Given the description of an element on the screen output the (x, y) to click on. 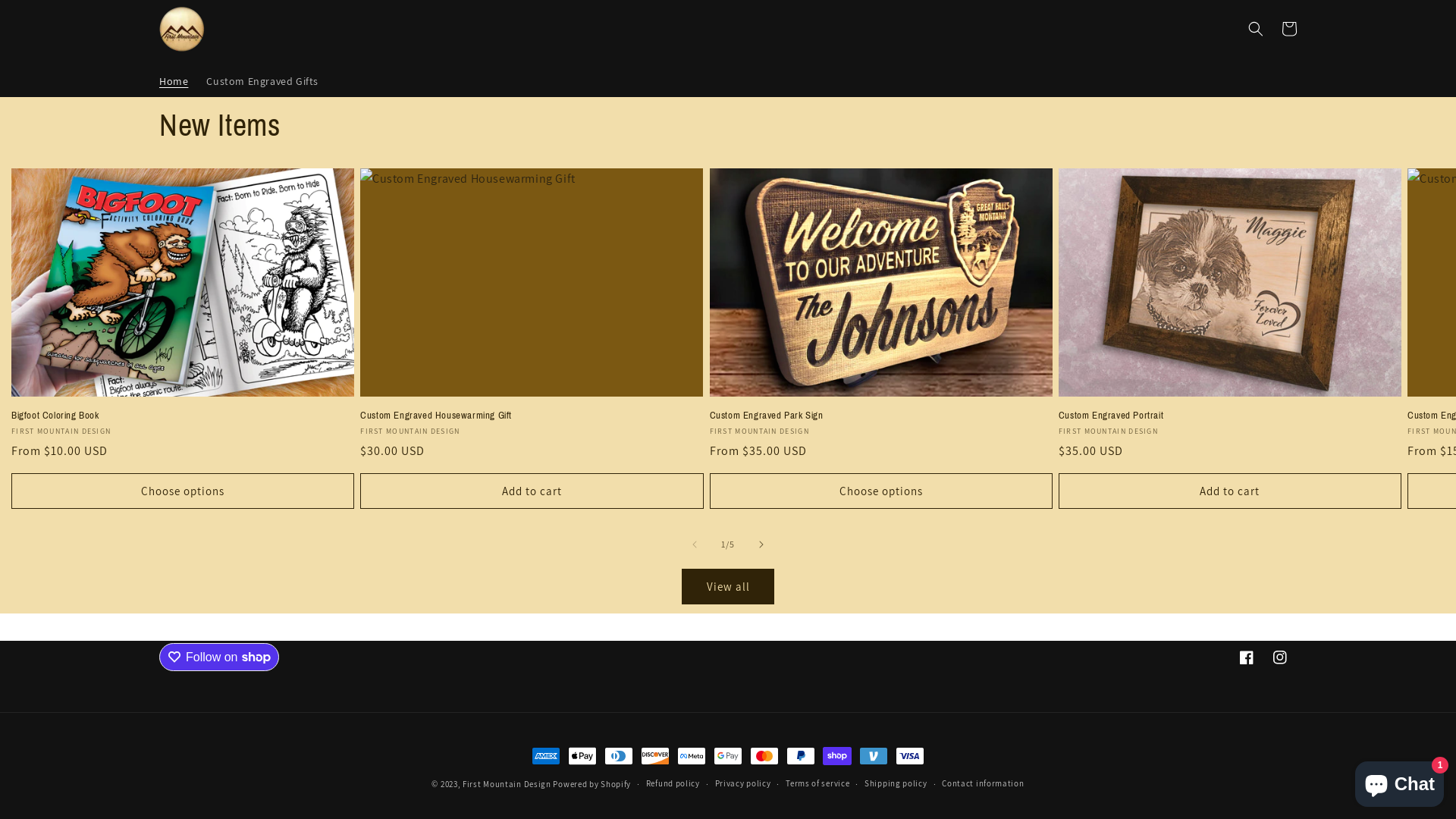
Choose options Element type: text (880, 490)
Instagram Element type: text (1279, 657)
Choose options Element type: text (182, 490)
Powered by Shopify Element type: text (591, 783)
View all Element type: text (727, 586)
Add to cart Element type: text (1229, 490)
Custom Engraved Gifts Element type: text (262, 81)
Custom Engraved Portrait Element type: text (1229, 415)
Facebook Element type: text (1246, 657)
Terms of service Element type: text (817, 783)
Cart Element type: text (1288, 28)
Shipping policy Element type: text (895, 783)
Home Element type: text (173, 81)
Privacy policy Element type: text (743, 783)
Custom Engraved Housewarming Gift Element type: text (531, 415)
Bigfoot Coloring Book Element type: text (182, 415)
Refund policy Element type: text (672, 783)
Custom Engraved Park Sign Element type: text (880, 415)
Add to cart Element type: text (531, 490)
Shopify online store chat Element type: hover (1399, 780)
Contact information Element type: text (982, 783)
First Mountain Design Element type: text (506, 783)
